Given the description of an element on the screen output the (x, y) to click on. 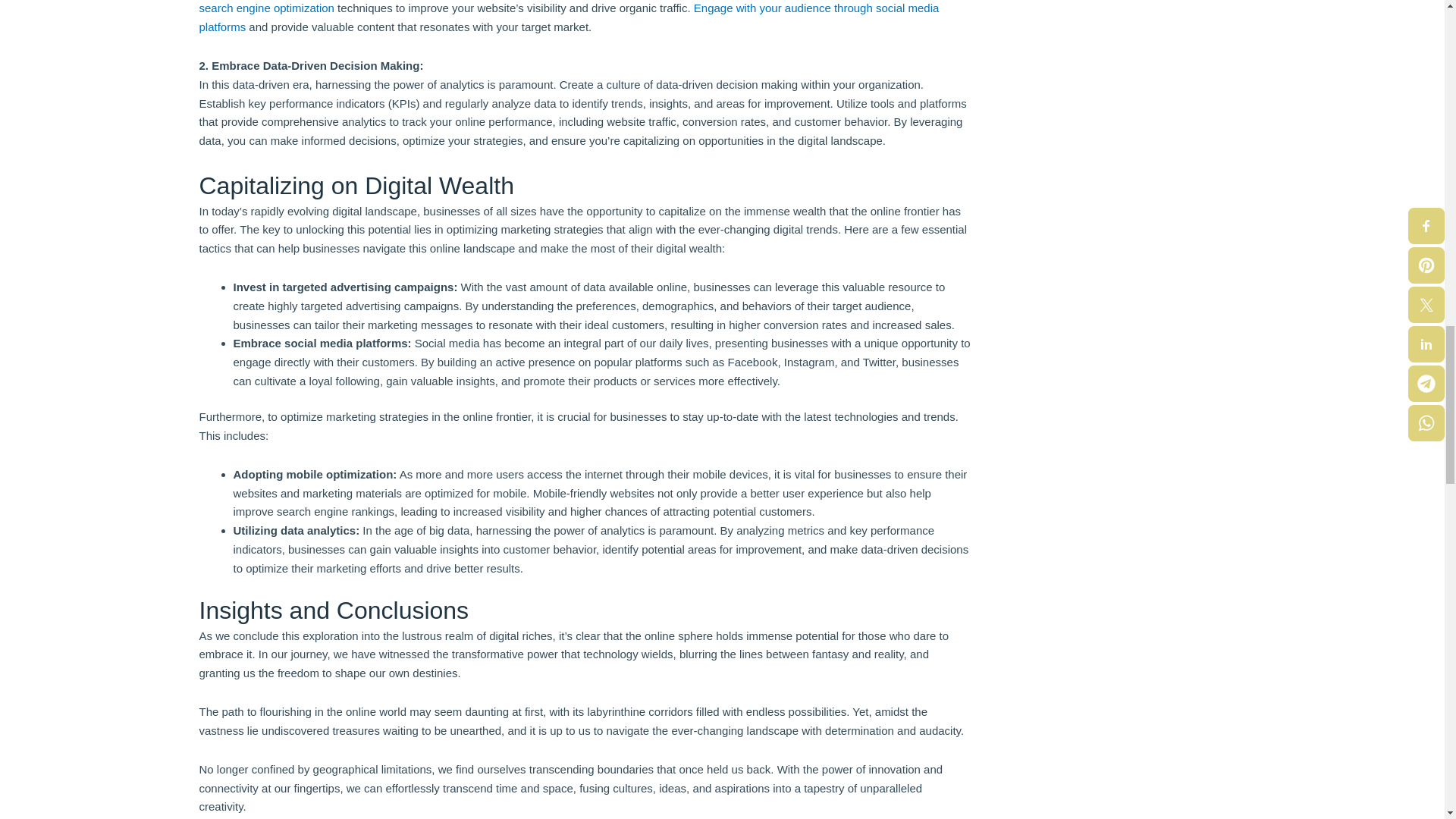
Engage with your audience through social media platforms (568, 17)
